Given the description of an element on the screen output the (x, y) to click on. 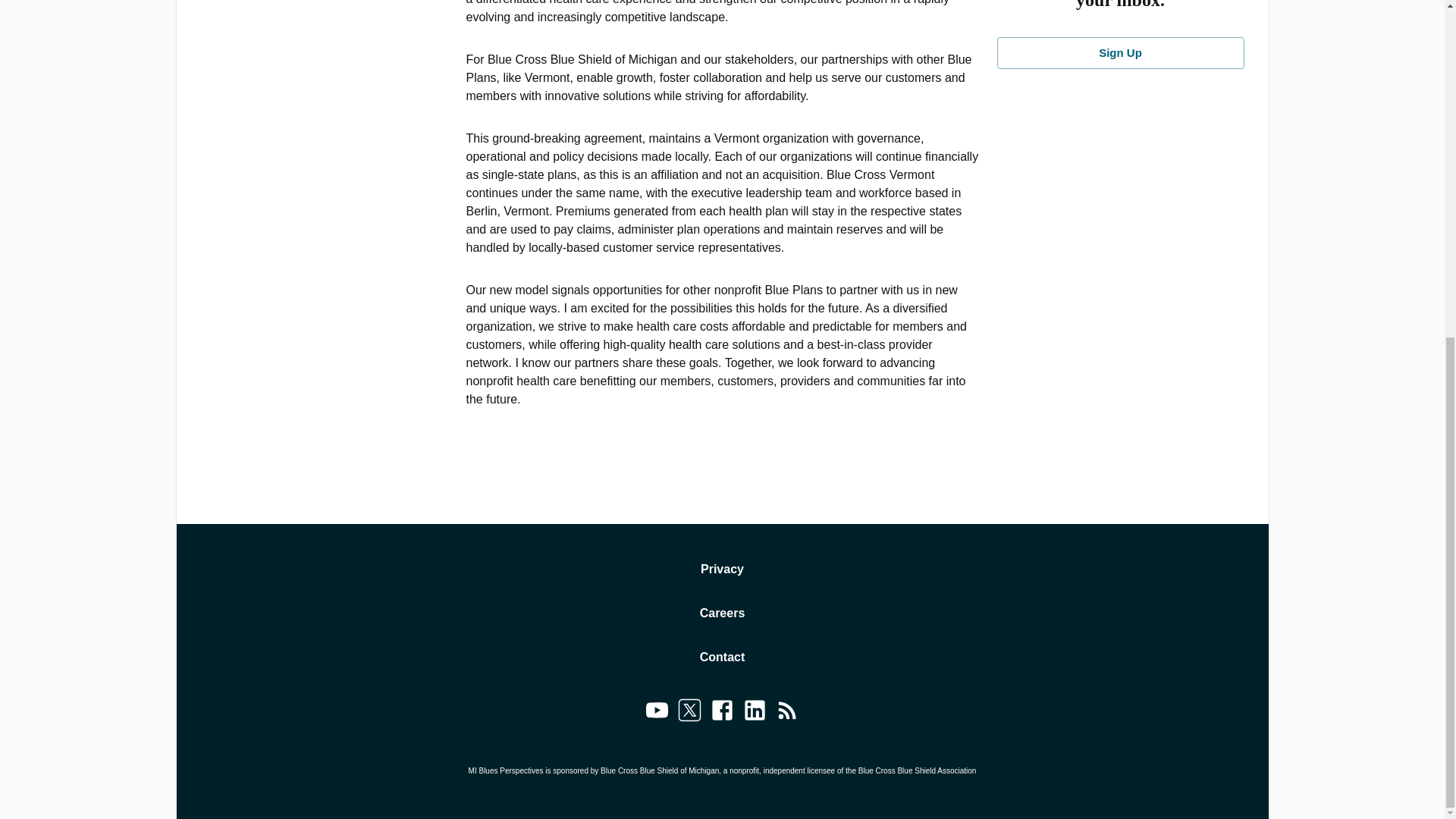
Contact (722, 657)
Sign Up (1119, 52)
Privacy (722, 569)
Careers (722, 613)
